Given the description of an element on the screen output the (x, y) to click on. 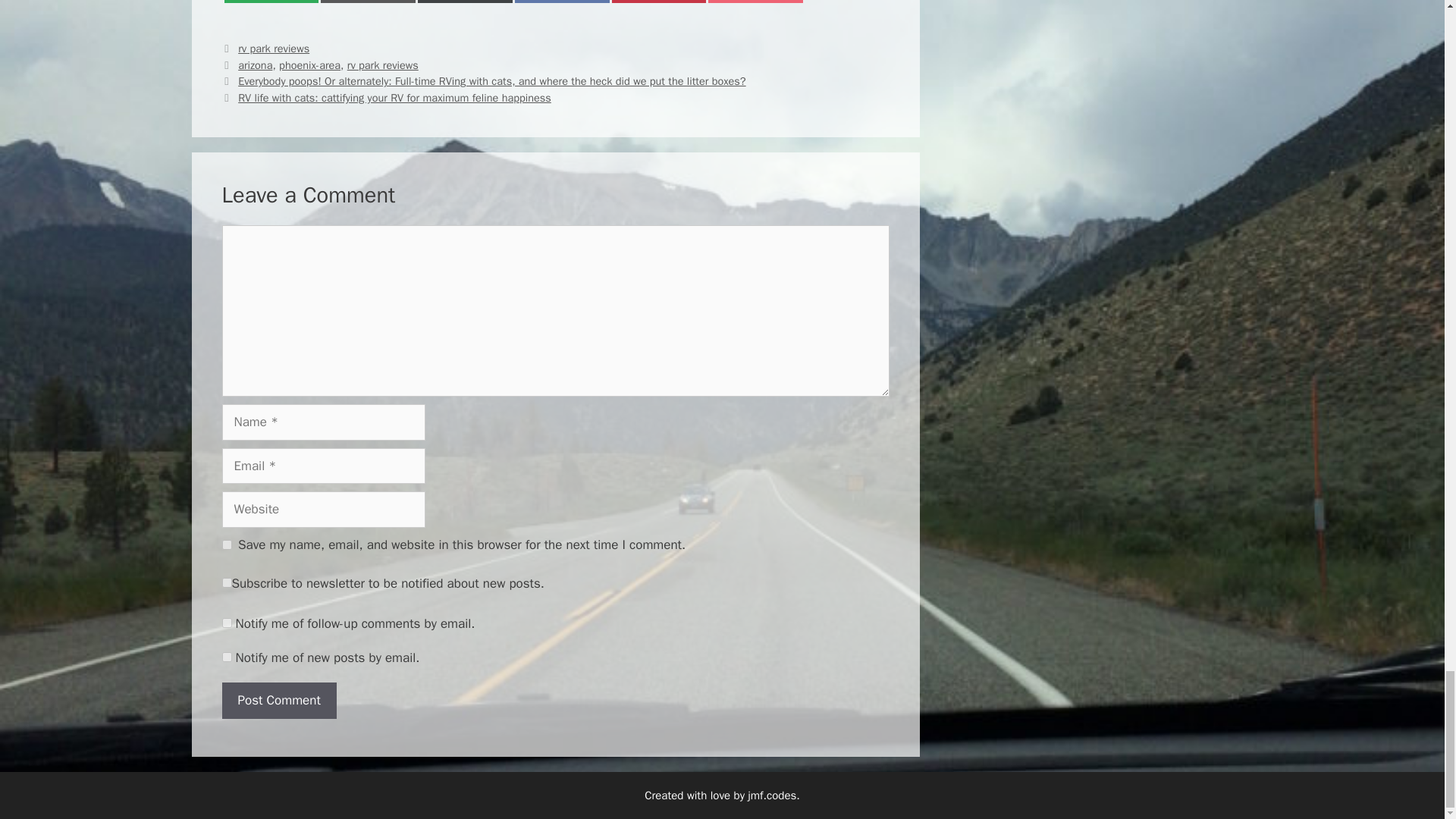
rv park reviews (273, 48)
Post Comment (278, 700)
subscribe (658, 1)
1 (755, 1)
subscribe (367, 1)
yes (226, 623)
